Given the description of an element on the screen output the (x, y) to click on. 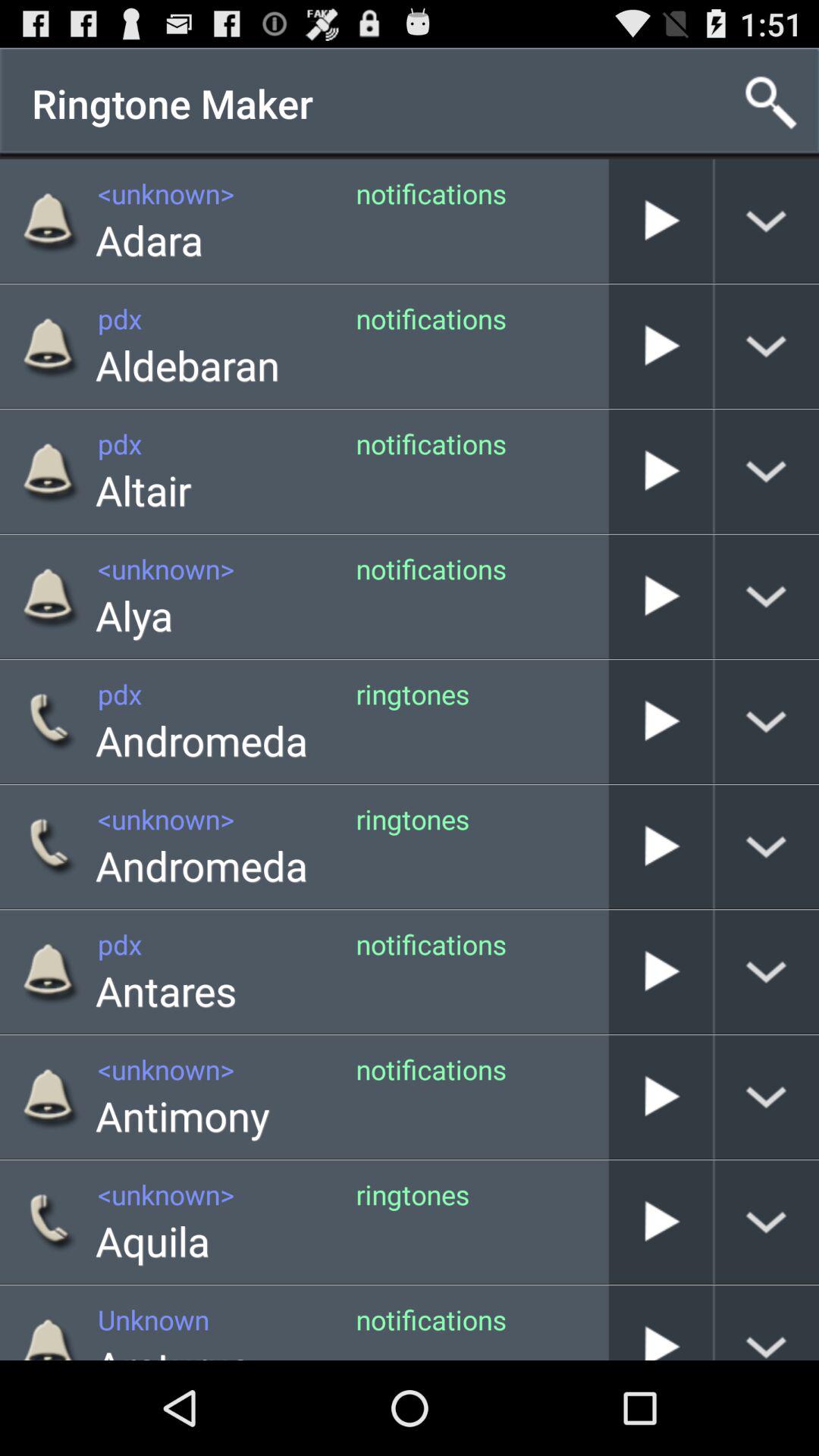
push to play sound (660, 346)
